Given the description of an element on the screen output the (x, y) to click on. 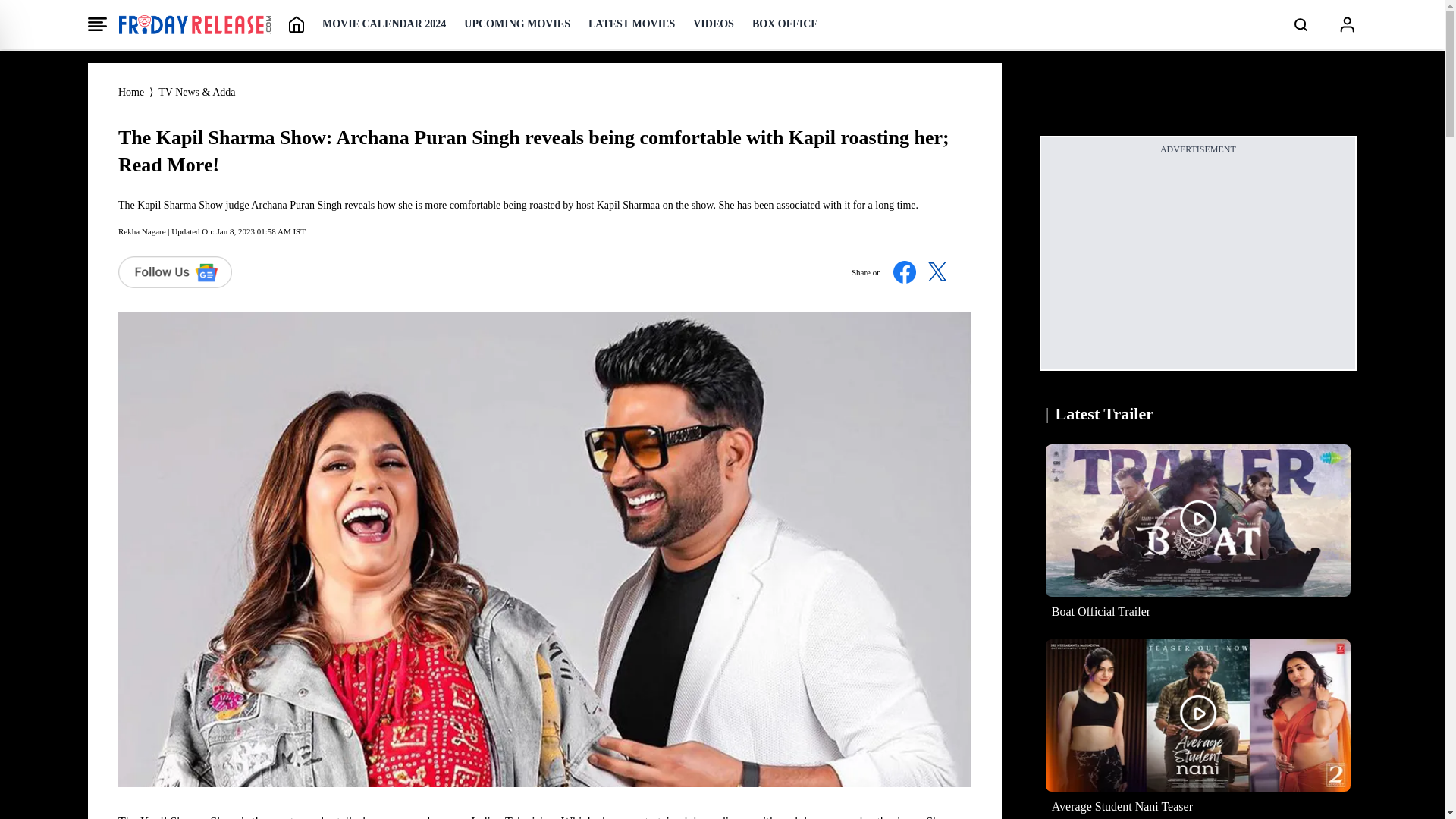
Share on (905, 272)
BOX OFFICE (785, 23)
UPCOMING MOVIES (517, 23)
LATEST MOVIES (631, 23)
VIDEOS (713, 23)
MOVIE CALENDAR 2024 (383, 23)
